Given the description of an element on the screen output the (x, y) to click on. 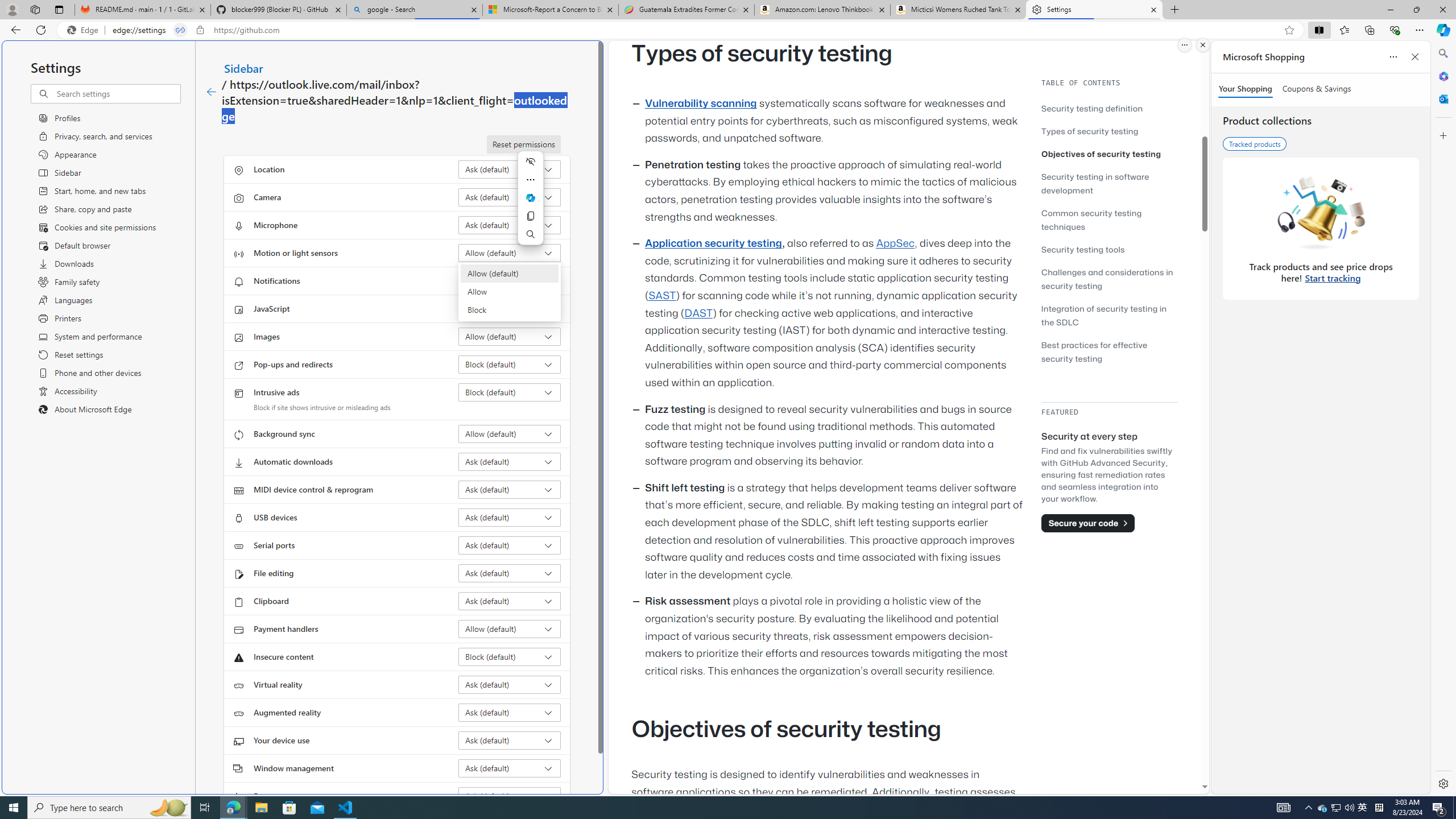
Best practices for effective security testing (1094, 351)
AppSec (895, 243)
Payment handlers Allow (default) (509, 628)
Collections (1369, 29)
Microsoft-Report a Concern to Bing (550, 9)
DAST (698, 312)
Camera Ask (default) (509, 197)
Security testing in software development (1109, 183)
Best practices for effective security testing (1109, 351)
Types of security testing (1089, 130)
Customize (1442, 135)
USB devices Ask (default) (509, 517)
Reset permissions (523, 144)
